Given the description of an element on the screen output the (x, y) to click on. 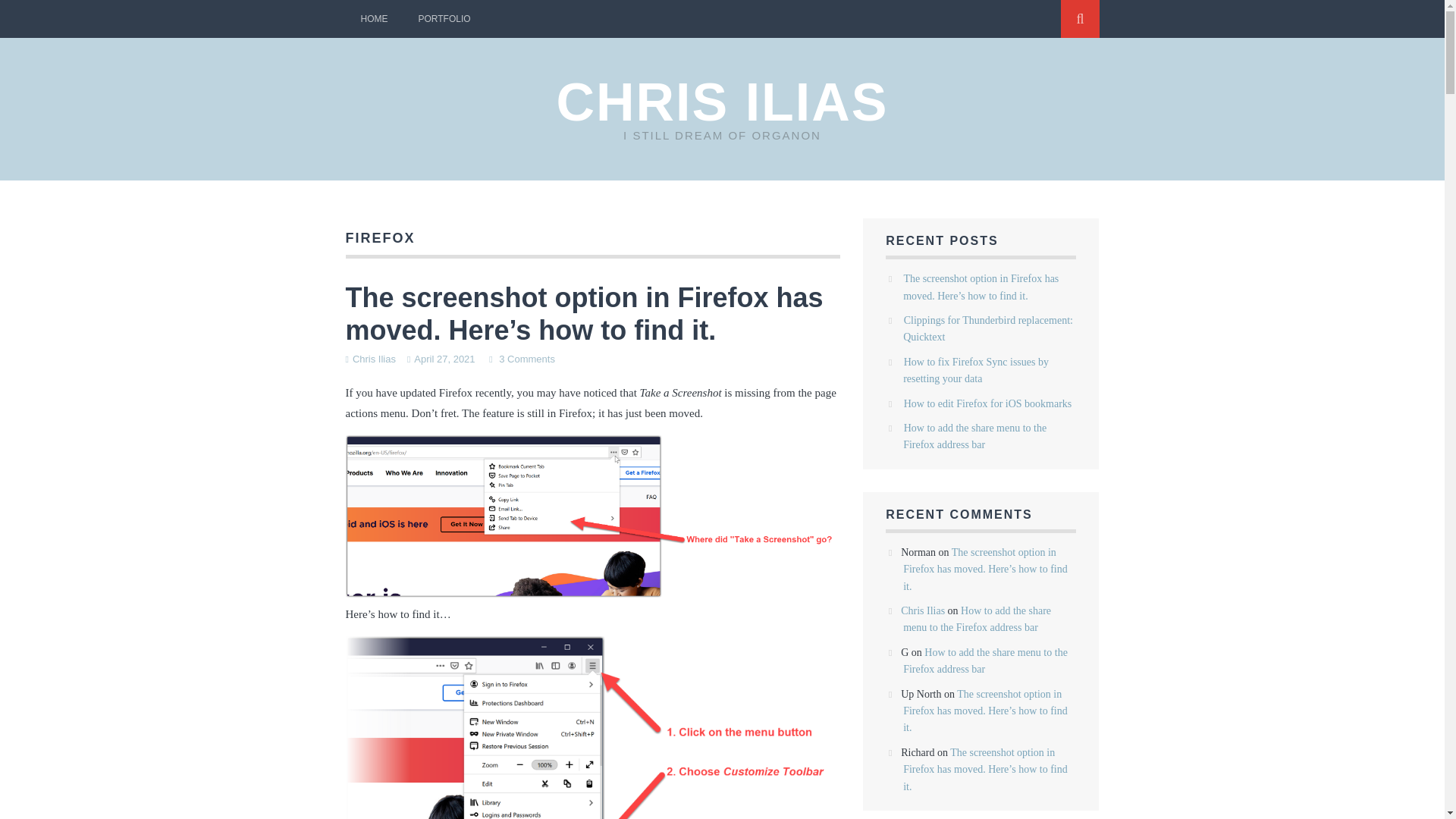
3 Comments (526, 358)
CHRIS ILIAS (722, 101)
PORTFOLIO (444, 18)
Chris Ilias (374, 358)
April 27, 2021 (443, 358)
HOME (374, 18)
